Given the description of an element on the screen output the (x, y) to click on. 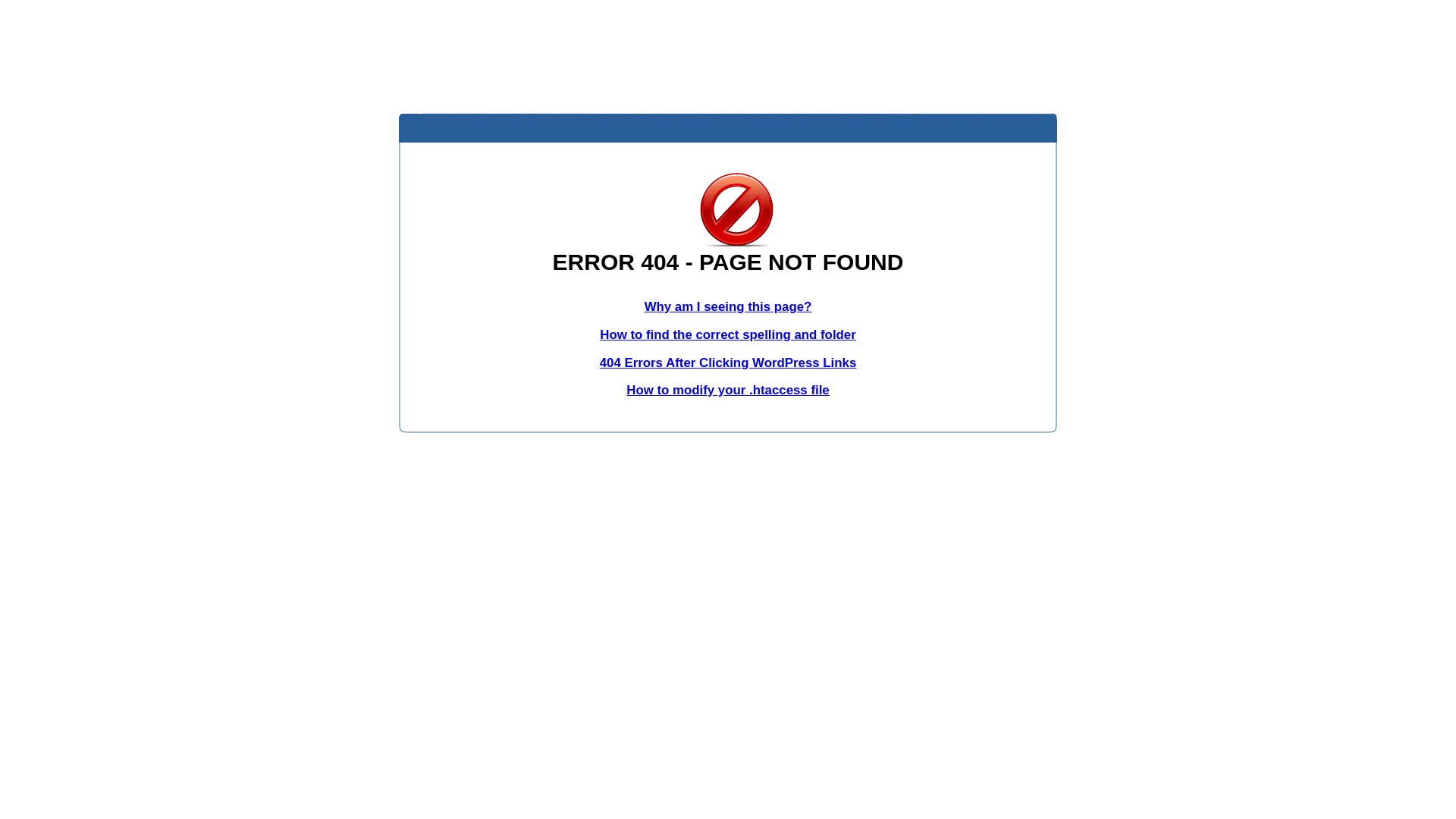
404 Errors After Clicking WordPress Links Element type: text (727, 362)
How to find the correct spelling and folder Element type: text (727, 334)
How to modify your .htaccess file Element type: text (727, 389)
Why am I seeing this page? Element type: text (728, 306)
